Given the description of an element on the screen output the (x, y) to click on. 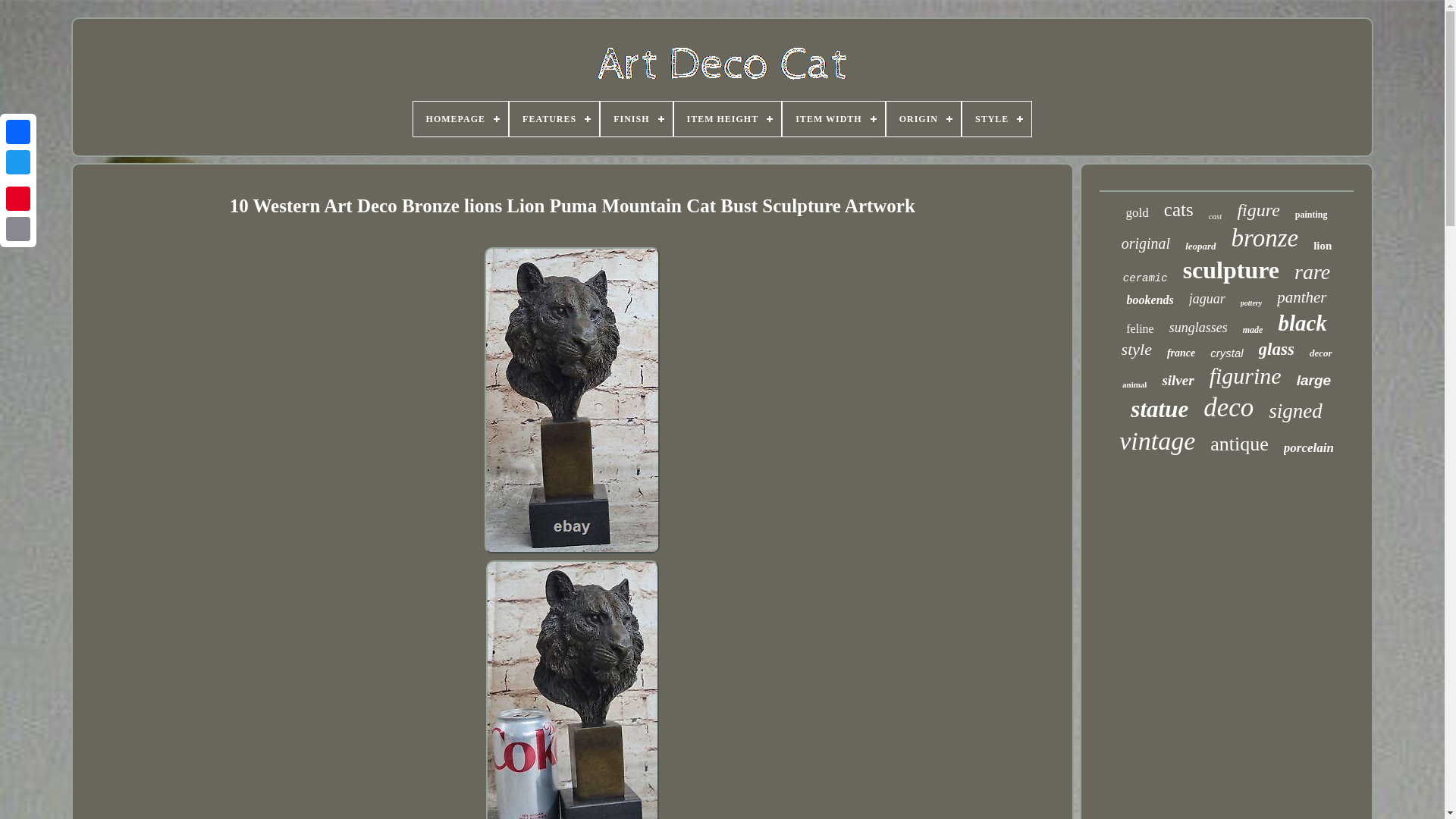
FINISH (635, 118)
FEATURES (553, 118)
HOMEPAGE (460, 118)
Email (17, 228)
